Given the description of an element on the screen output the (x, y) to click on. 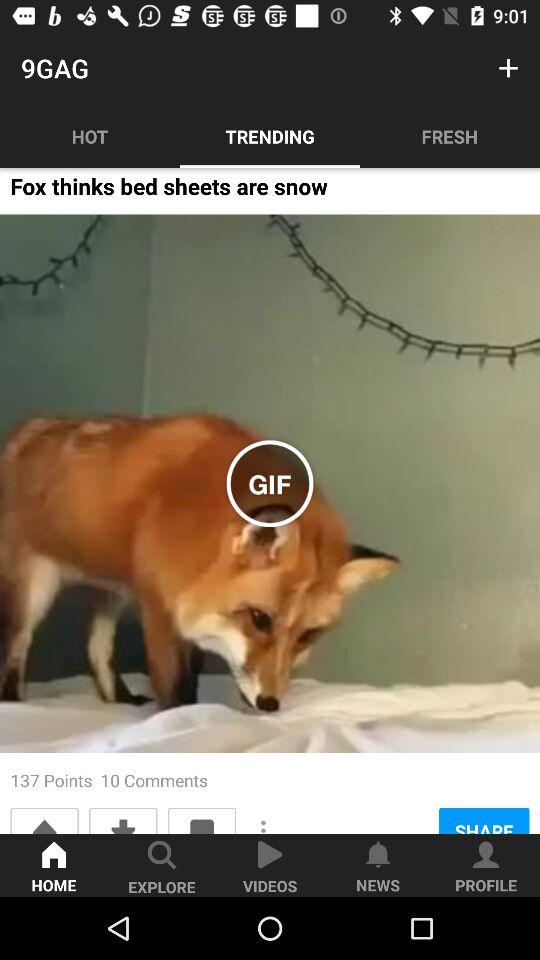
select the item to the right of 9gag icon (508, 67)
